Given the description of an element on the screen output the (x, y) to click on. 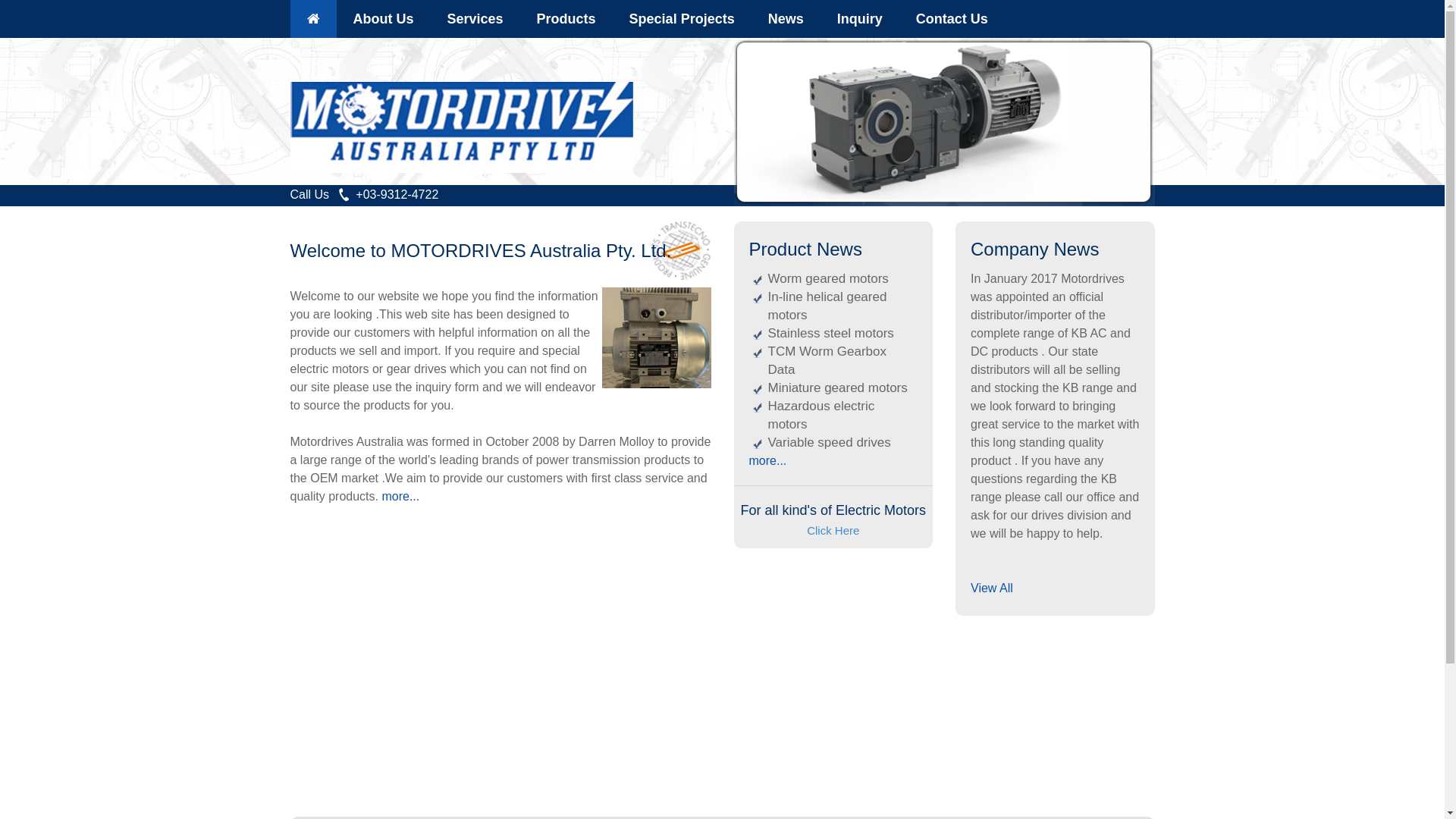
more... Element type: text (768, 460)
Contact Us Element type: text (951, 18)
Click Here Element type: text (832, 530)
Inquiry Element type: text (859, 18)
View All Element type: text (991, 587)
News Element type: text (785, 18)
Services Element type: text (475, 18)
more... Element type: text (400, 495)
Special Projects Element type: text (681, 18)
About Us Element type: text (383, 18)
Products Element type: text (566, 18)
